Given the description of an element on the screen output the (x, y) to click on. 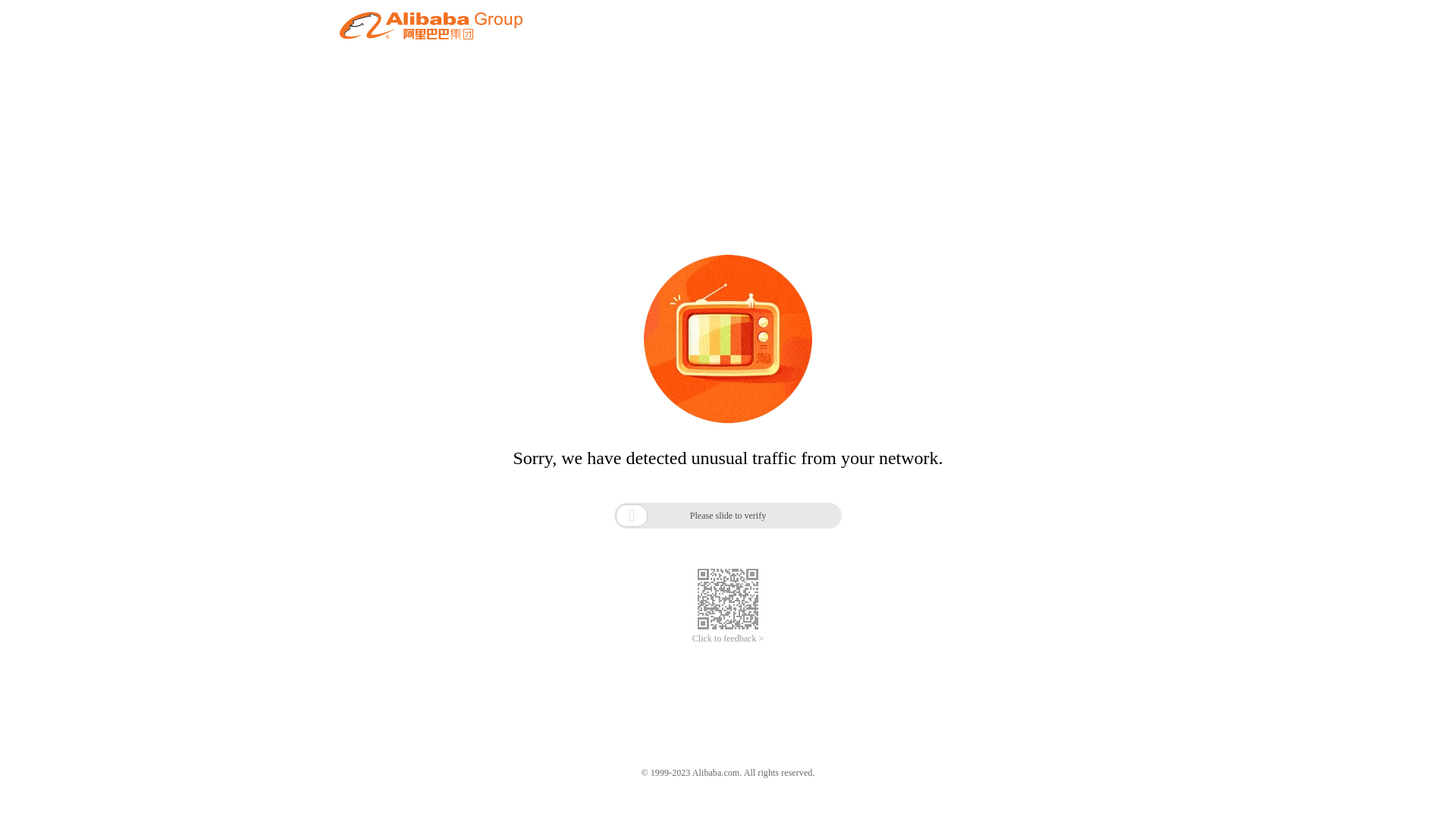
Click to feedback > Element type: text (727, 638)
